Given the description of an element on the screen output the (x, y) to click on. 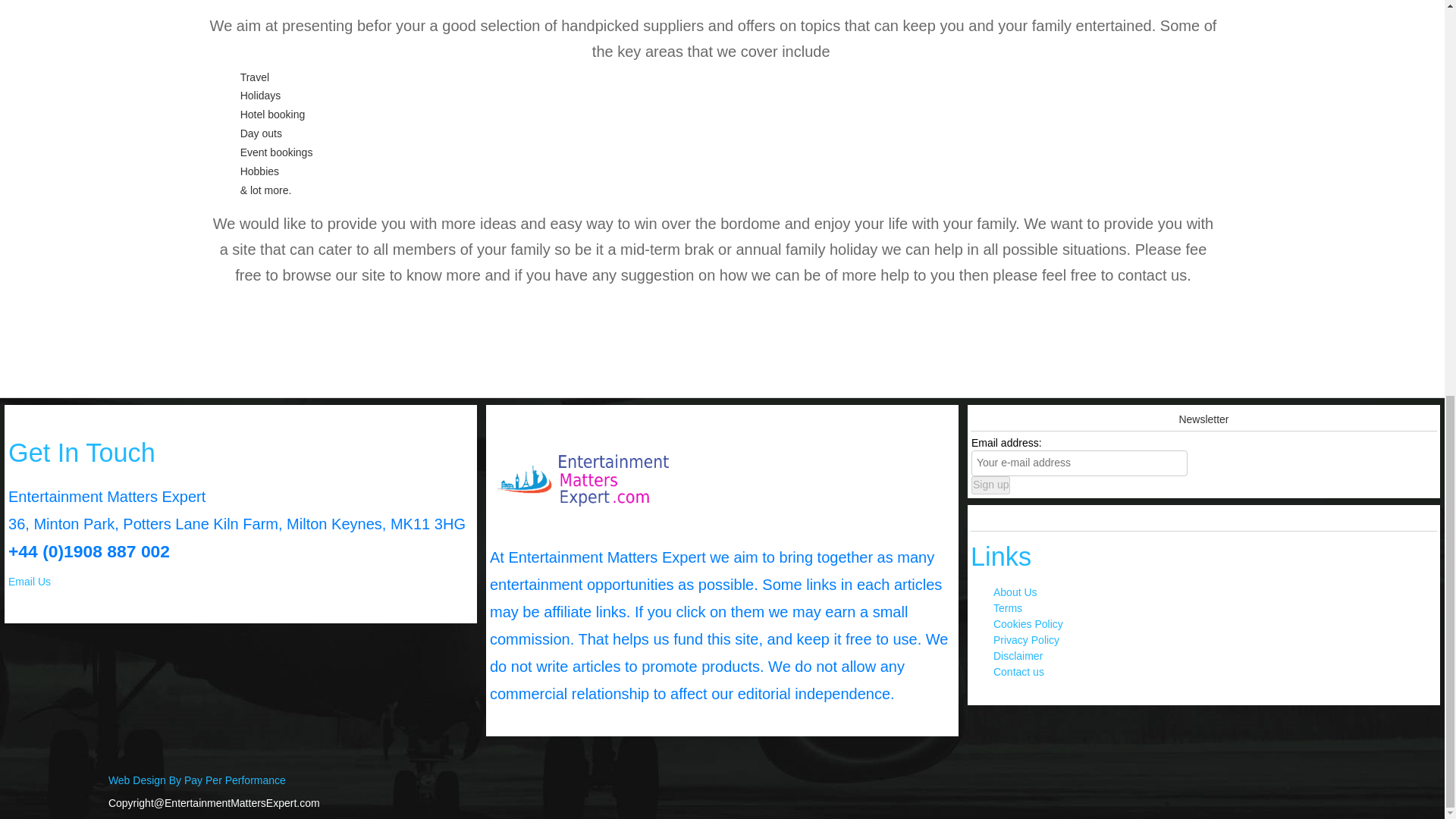
About Us (1014, 592)
Cookies Policy (1027, 623)
Email Us (29, 581)
Sign up (990, 484)
Sign up (990, 484)
Terms (1007, 607)
Web Design By Pay Per Performance (196, 779)
Disclaimer (1017, 655)
Contact us (1017, 671)
Privacy Policy (1025, 639)
